Given the description of an element on the screen output the (x, y) to click on. 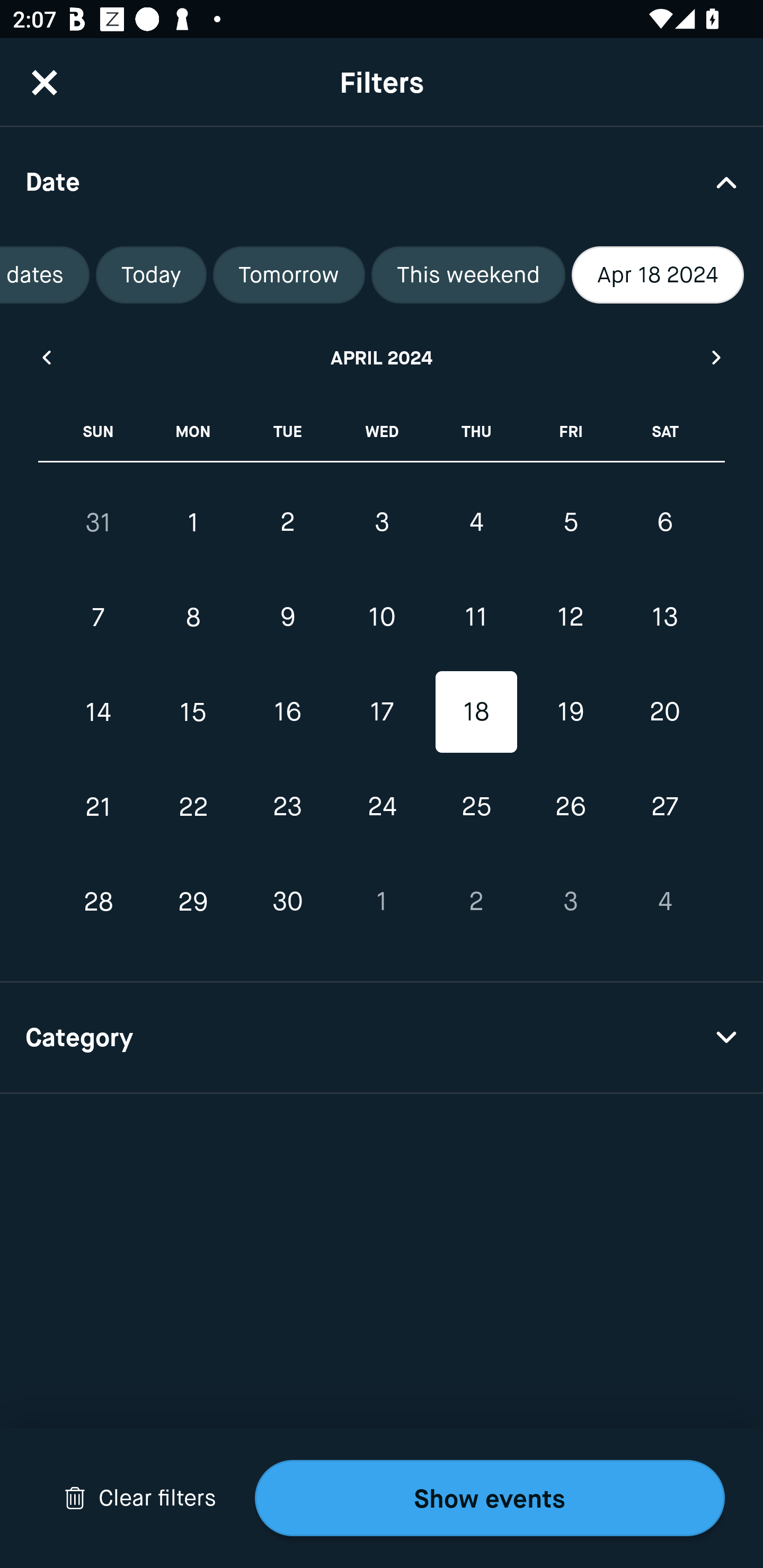
CloseButton (44, 82)
Date Drop Down Arrow (381, 181)
Today (151, 274)
Tomorrow (288, 274)
This weekend (468, 274)
Apr 18 2024 (657, 274)
Previous (45, 357)
Next (717, 357)
31 (98, 522)
1 (192, 522)
2 (287, 522)
3 (381, 522)
4 (475, 522)
5 (570, 522)
6 (664, 522)
7 (98, 617)
8 (192, 617)
9 (287, 617)
10 (381, 617)
11 (475, 617)
12 (570, 617)
13 (664, 617)
14 (98, 711)
15 (192, 711)
16 (287, 711)
17 (381, 711)
18 (475, 711)
19 (570, 711)
20 (664, 711)
21 (98, 806)
22 (192, 806)
23 (287, 806)
24 (381, 806)
25 (475, 806)
26 (570, 806)
27 (664, 806)
28 (98, 901)
29 (192, 901)
30 (287, 901)
1 (381, 901)
2 (475, 901)
3 (570, 901)
4 (664, 901)
Category Drop Down Arrow (381, 1038)
Drop Down Arrow Clear filters (139, 1497)
Show events (489, 1497)
